Given the description of an element on the screen output the (x, y) to click on. 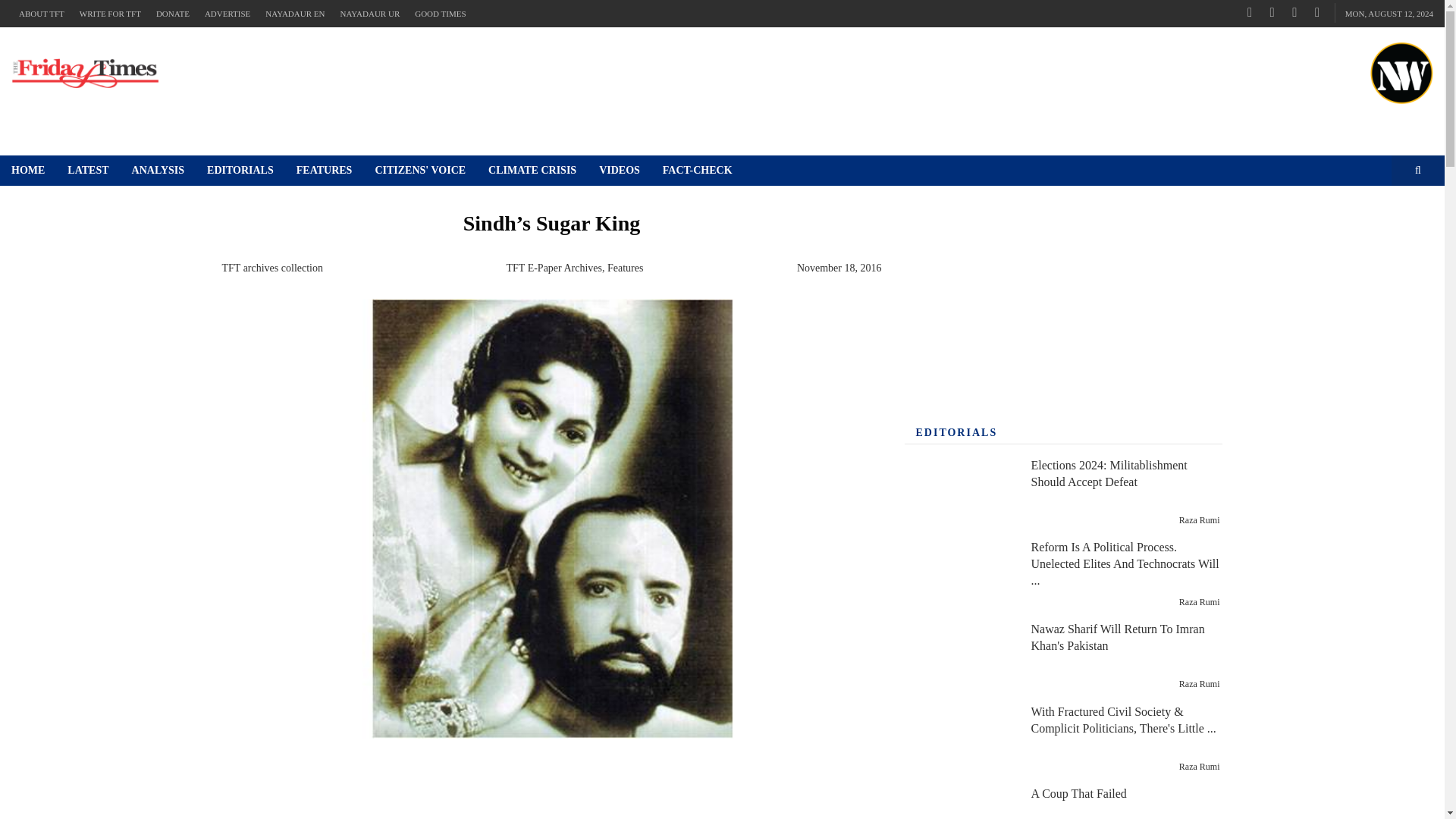
NAYADAUR EN (294, 13)
VIDEOS (619, 170)
ABOUT TFT (41, 13)
DONATE (172, 13)
TFT archives collection (271, 267)
ADVERTISE (226, 13)
CLIMATE CRISIS (532, 170)
FEATURES (324, 170)
WRITE FOR TFT (109, 13)
